Given the description of an element on the screen output the (x, y) to click on. 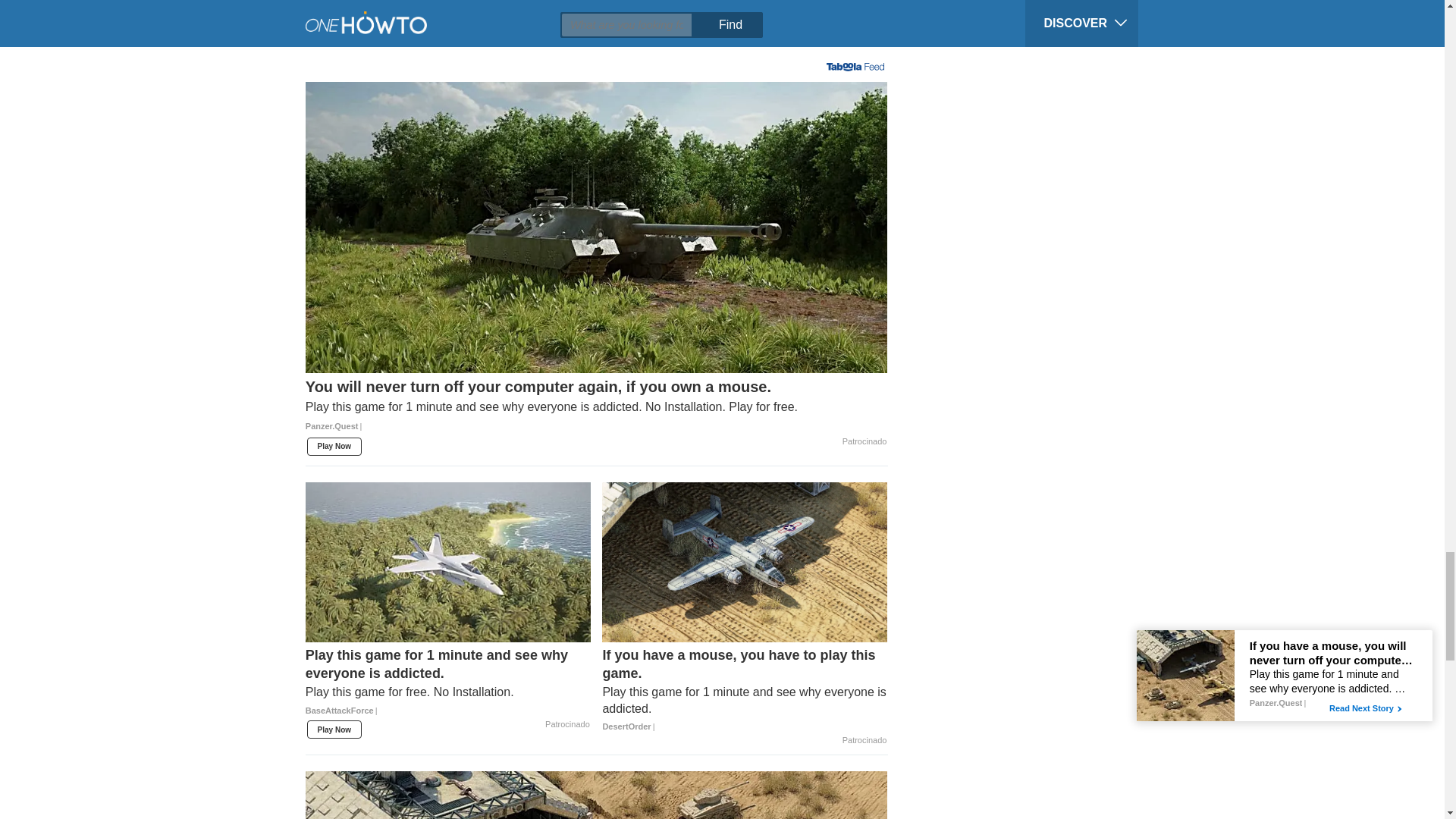
"Description: Play this game for free. No Installation." (448, 692)
